Given the description of an element on the screen output the (x, y) to click on. 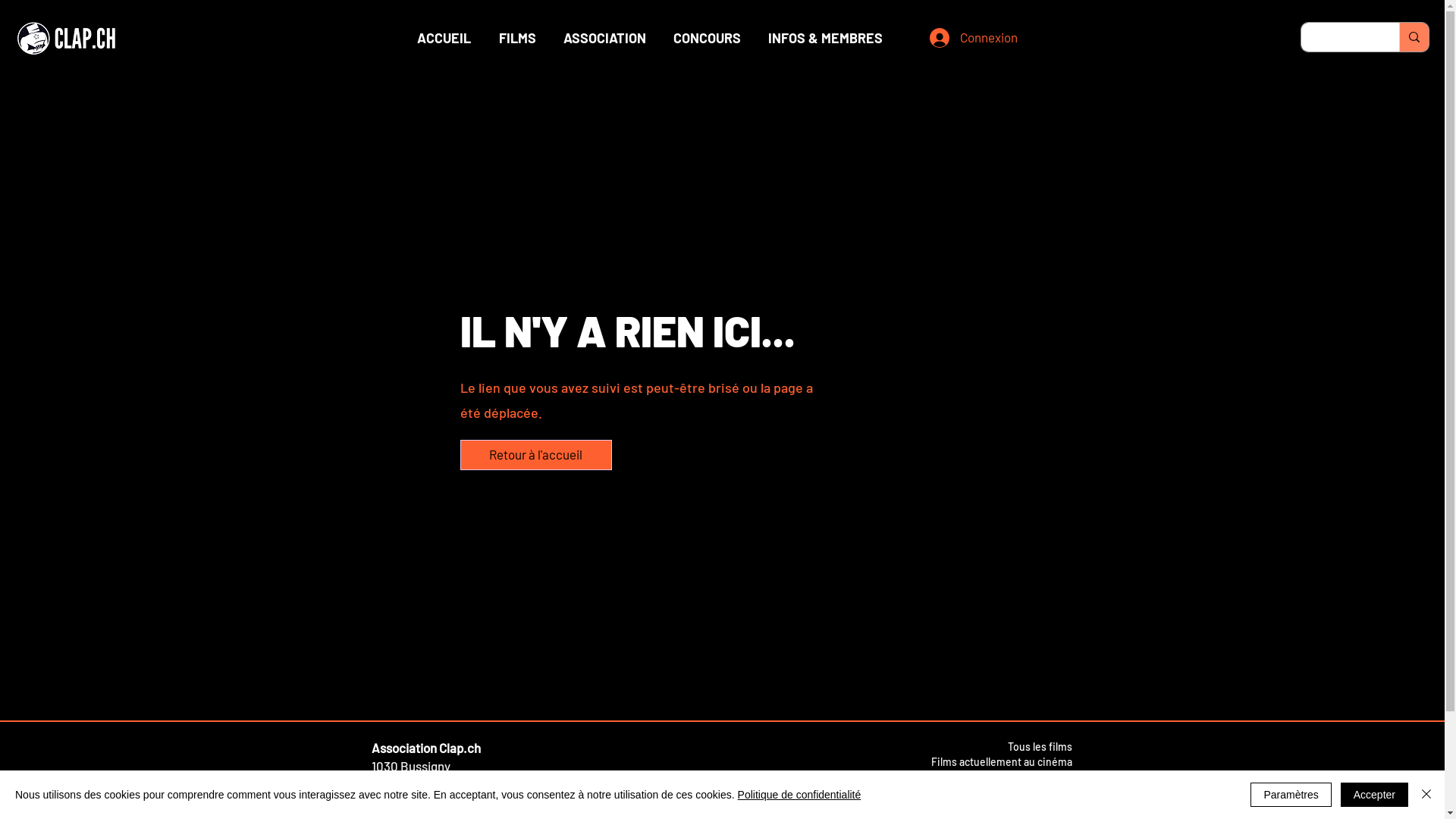
ASSOCIATION Element type: text (603, 37)
Connexion Element type: text (964, 37)
Sorties de la semaine Element type: text (1021, 775)
Tous nos articles Element type: text (1031, 790)
admin@clap.ch Element type: text (414, 783)
INFOS & MEMBRES Element type: text (824, 37)
Accepter Element type: text (1374, 794)
Tous les films Element type: text (1039, 746)
CONCOURS Element type: text (706, 37)
ACCUEIL Element type: text (444, 37)
FILMS Element type: text (517, 37)
